Given the description of an element on the screen output the (x, y) to click on. 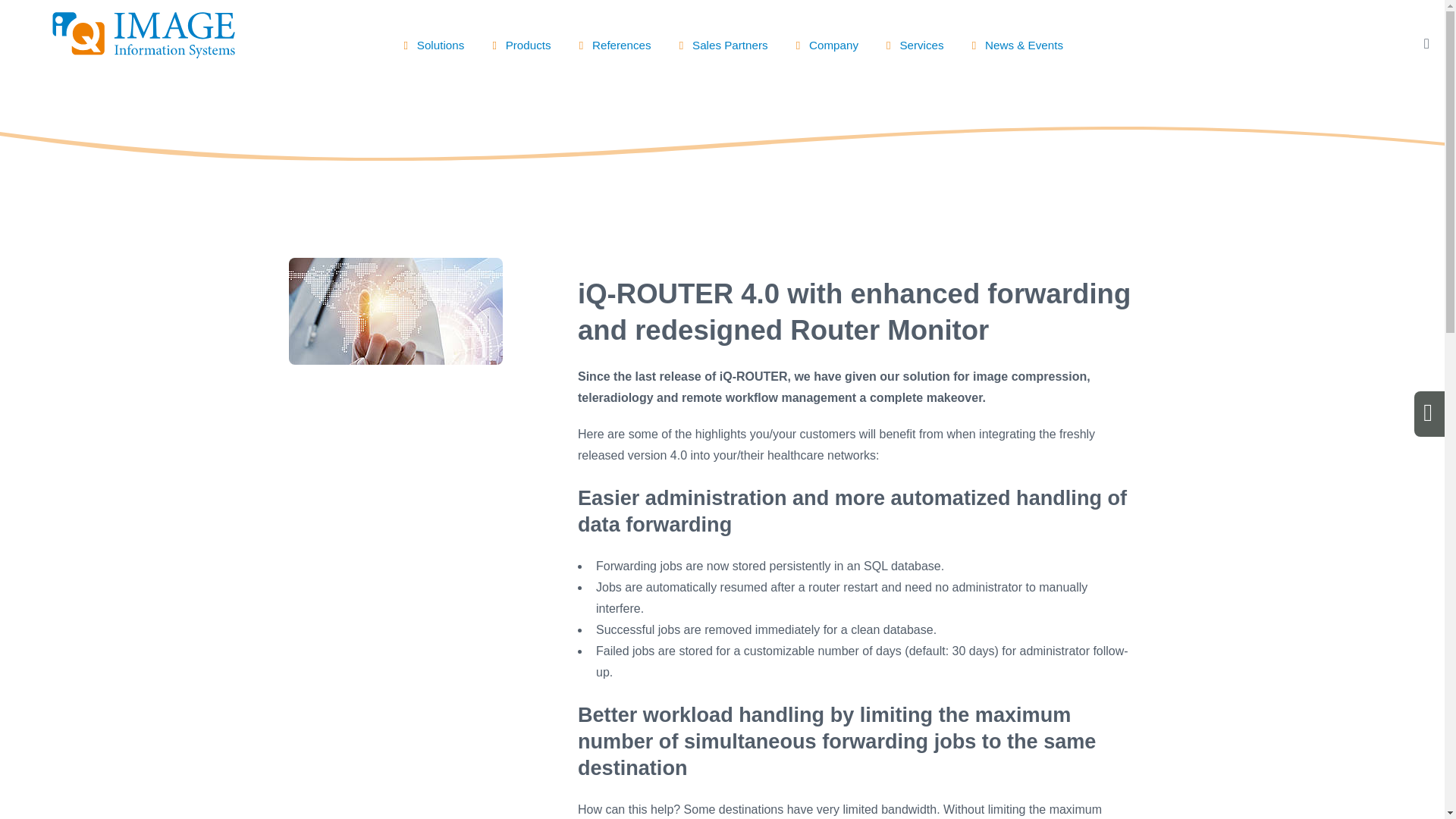
Products (518, 39)
Solutions (431, 39)
Solutions (431, 39)
References (611, 39)
Home (143, 53)
Products (518, 39)
